Given the description of an element on the screen output the (x, y) to click on. 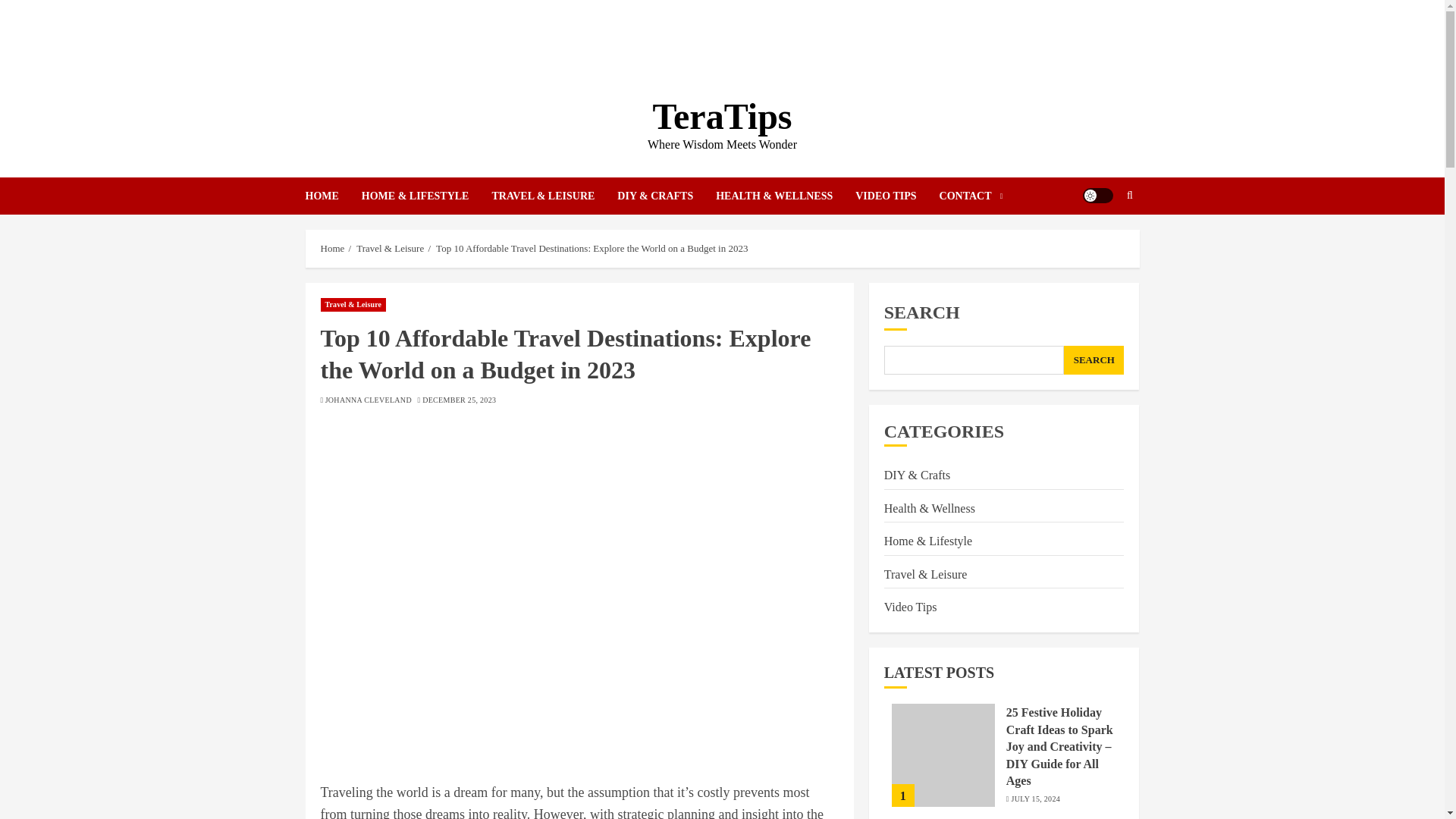
Home (331, 248)
DECEMBER 25, 2023 (459, 399)
Search (1099, 241)
VIDEO TIPS (897, 195)
JOHANNA CLEVELAND (368, 399)
HOME (332, 195)
TeraTips (722, 116)
SEARCH (1094, 359)
CONTACT (971, 195)
